Given the description of an element on the screen output the (x, y) to click on. 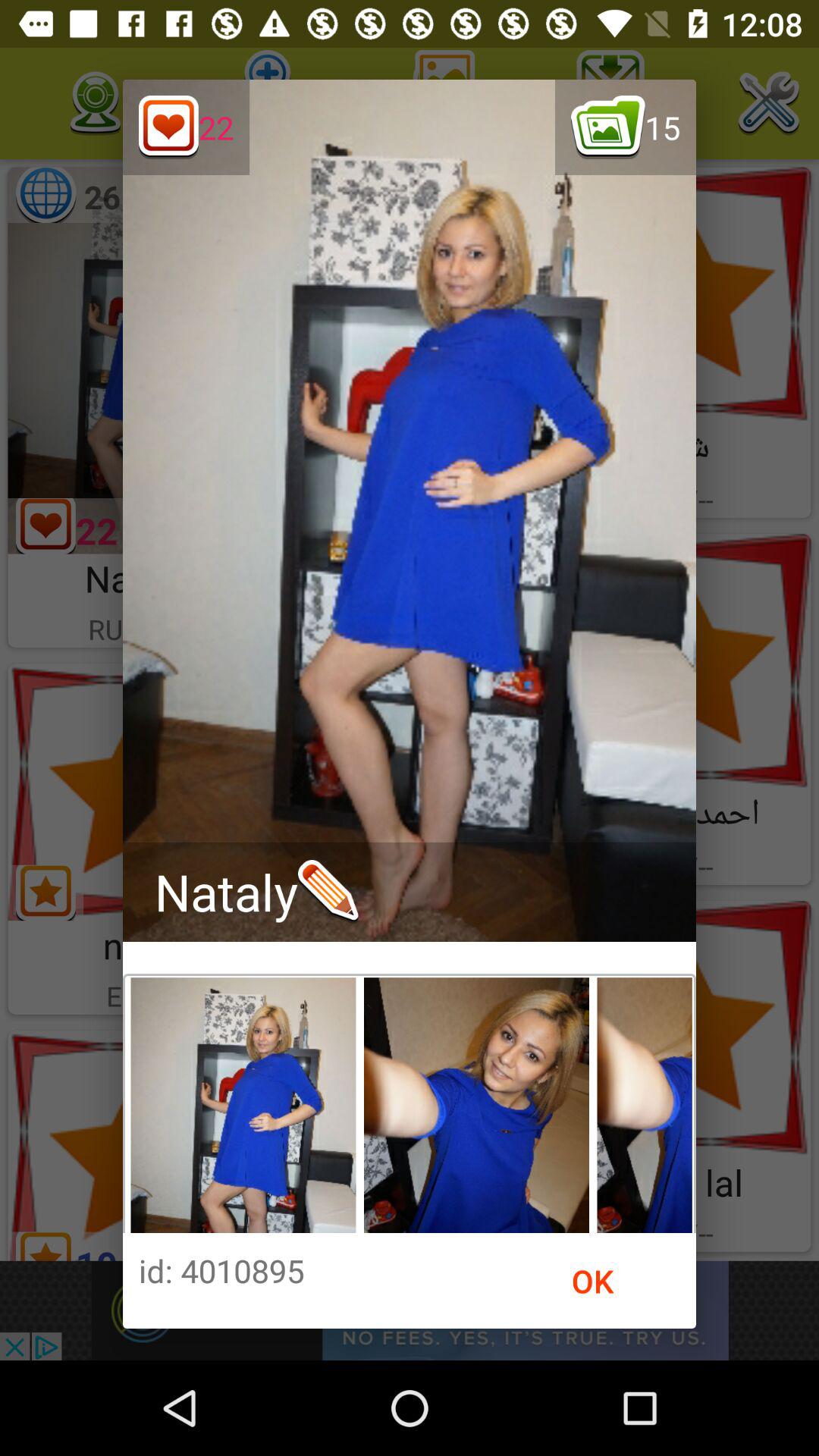
press nataly (256, 891)
